Given the description of an element on the screen output the (x, y) to click on. 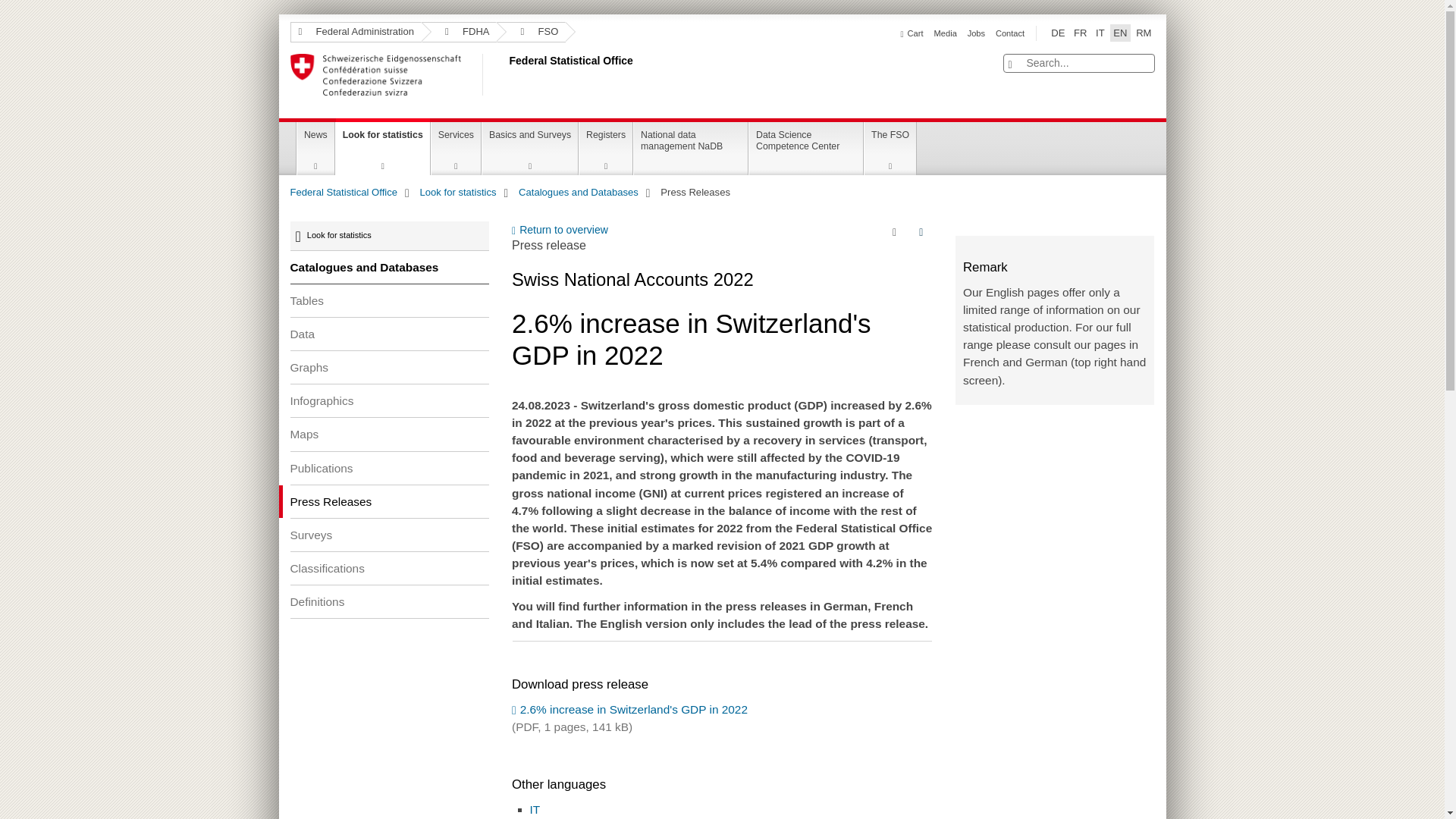
EN (1119, 32)
RM (1143, 32)
French (1079, 32)
Federal Administration (354, 32)
German (1057, 32)
FDHA (459, 32)
FR (1079, 32)
Jobs (976, 32)
FSO (531, 32)
Media (945, 32)
